Given the description of an element on the screen output the (x, y) to click on. 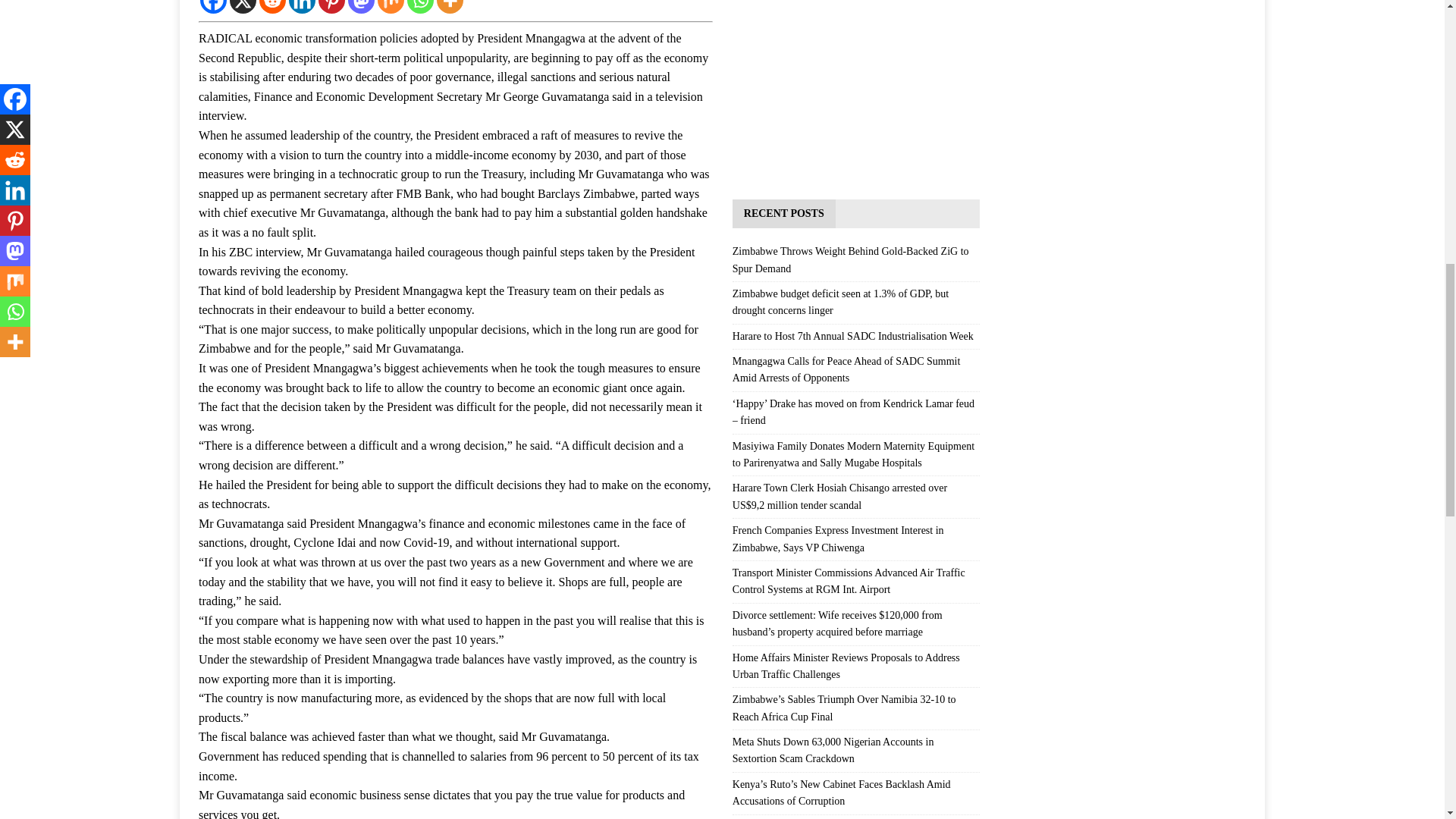
Facebook (213, 6)
Mix (390, 6)
Mastodon (360, 6)
Reddit (272, 6)
Linkedin (301, 6)
Pinterest (331, 6)
Whatsapp (420, 6)
X (243, 6)
